Given the description of an element on the screen output the (x, y) to click on. 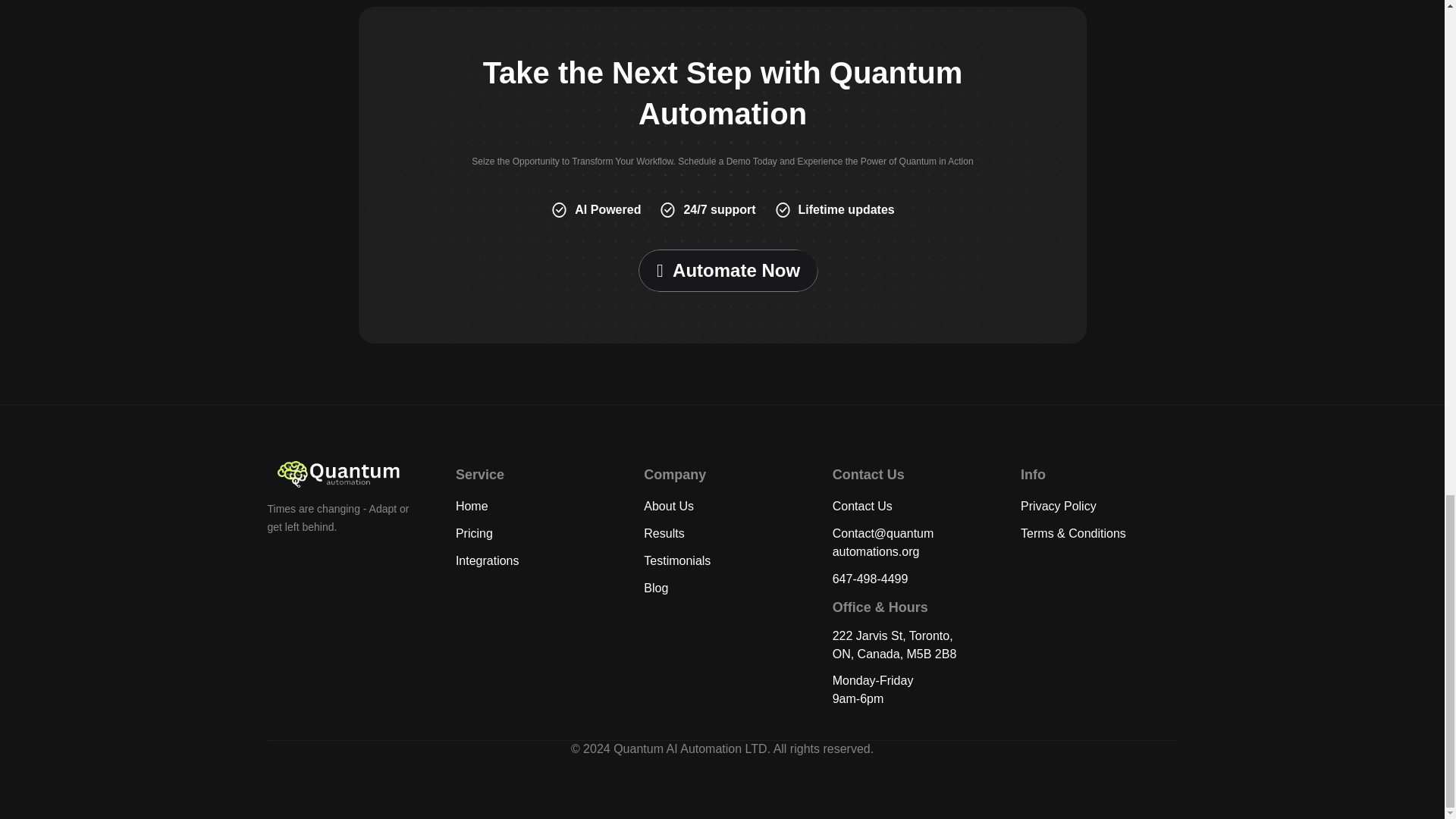
Results (663, 533)
Testimonials (676, 560)
Pricing (474, 533)
Blog (655, 587)
Privacy Policy (1058, 505)
Integrations (487, 560)
Contact Us (862, 505)
About Us (668, 505)
Home (471, 505)
